Given the description of an element on the screen output the (x, y) to click on. 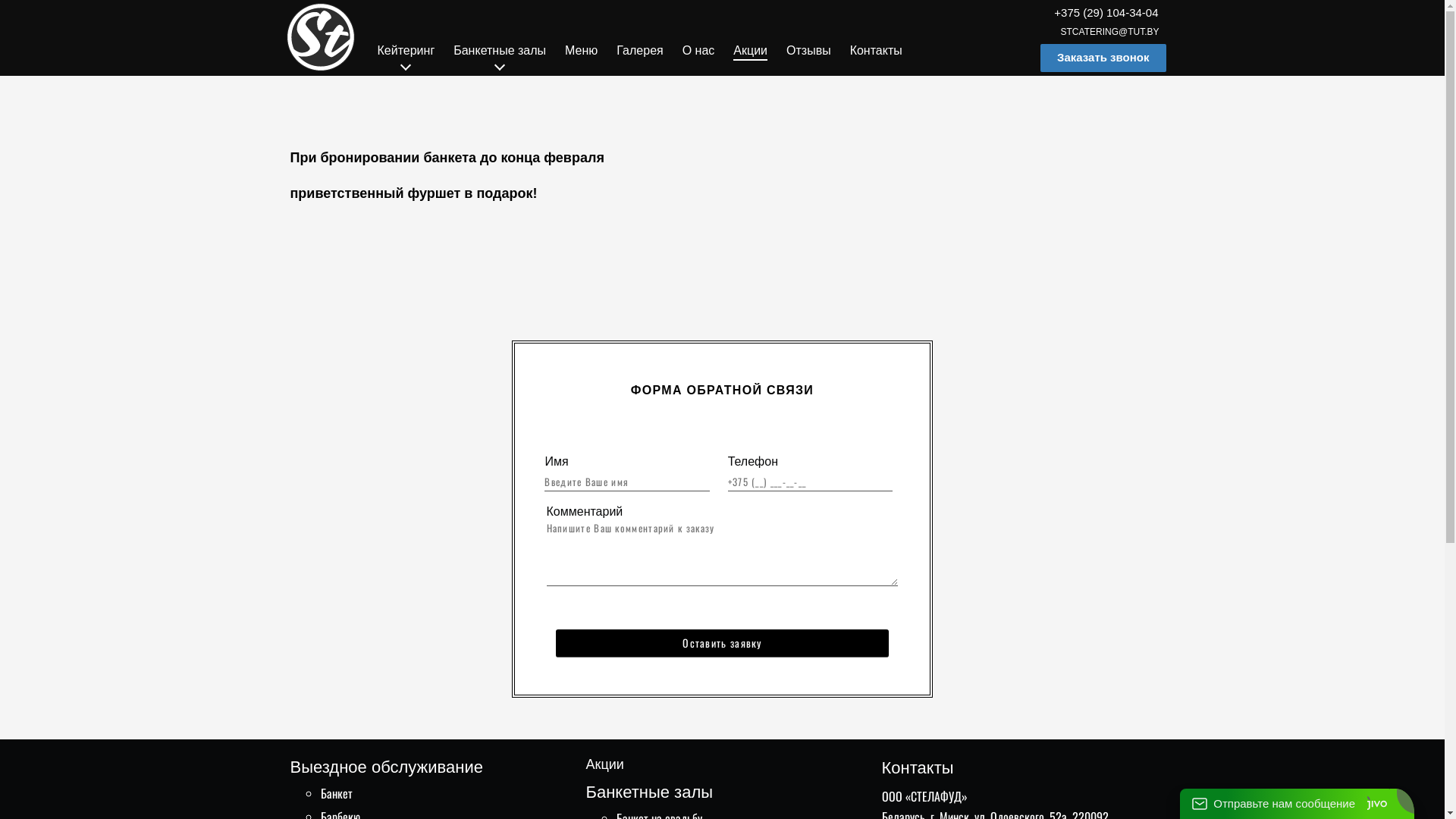
Stcatering.by - Catering Stolitsa Element type: hover (320, 37)
+375 (29) 104-34-04 Element type: text (1105, 12)
STCATERING@TUT.BY Element type: text (1109, 31)
